Given the description of an element on the screen output the (x, y) to click on. 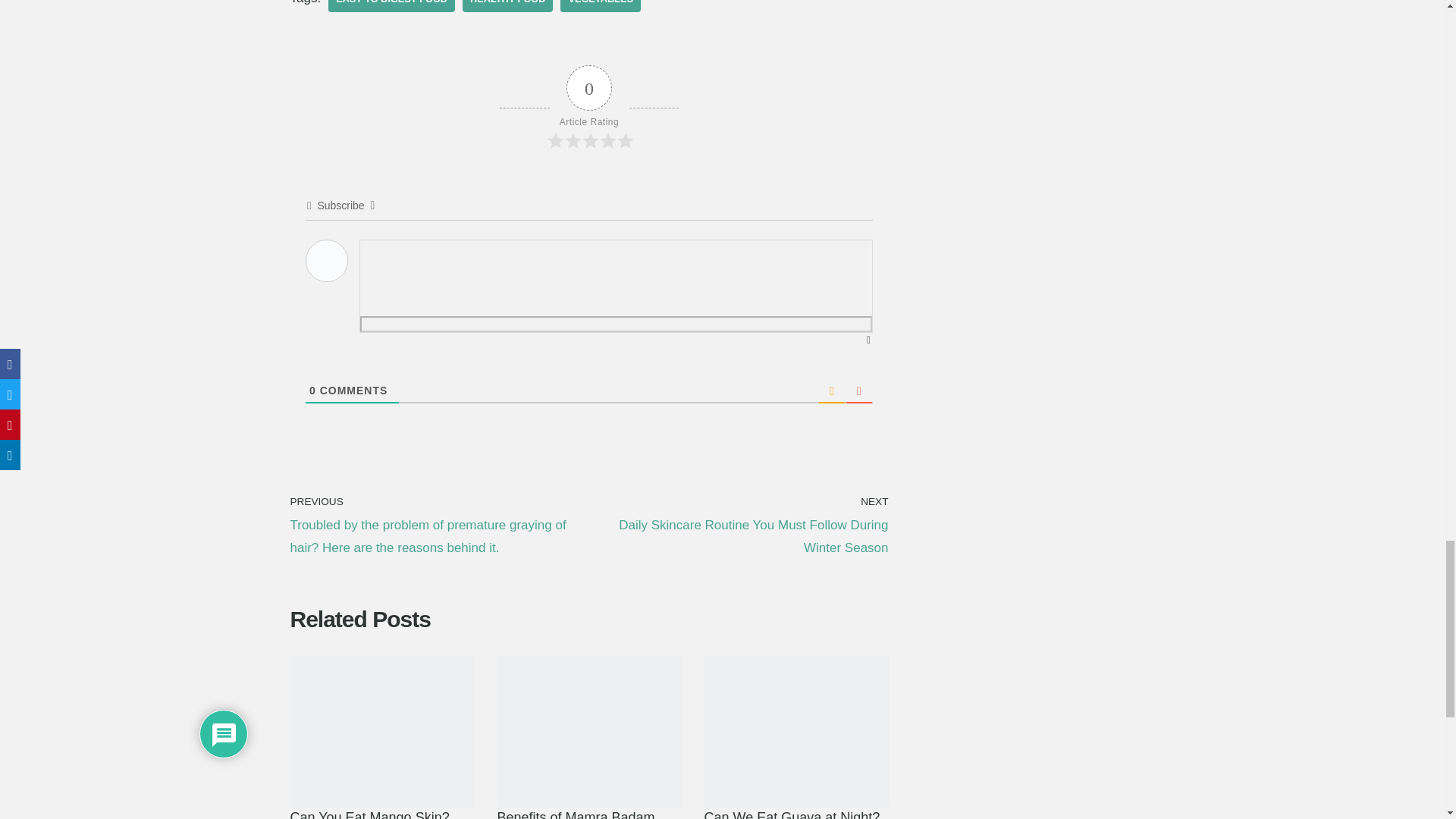
healthy food (508, 6)
vegetables (600, 6)
easy to digest food (391, 6)
